Given the description of an element on the screen output the (x, y) to click on. 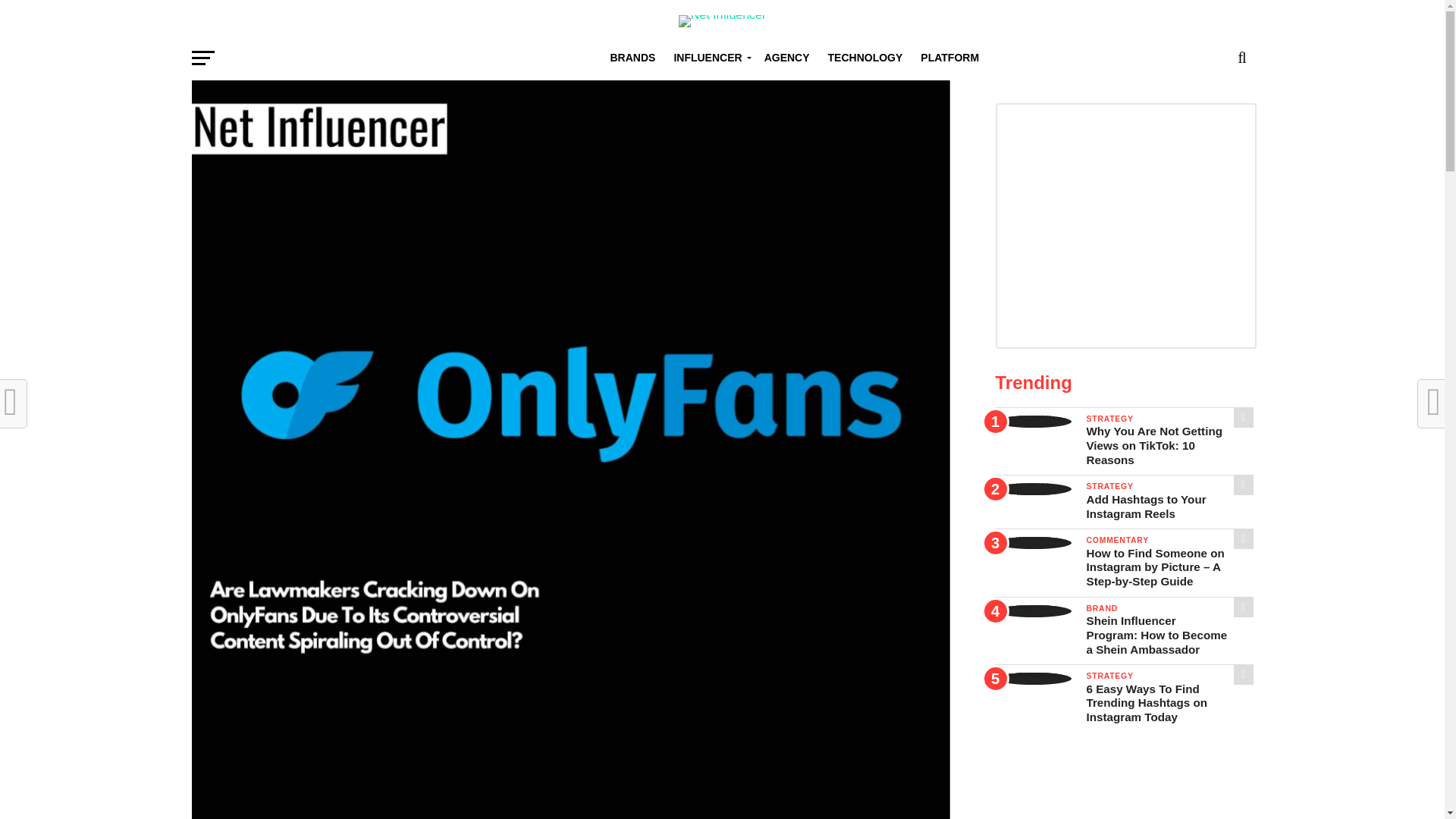
PLATFORM (949, 57)
TECHNOLOGY (865, 57)
INFLUENCER (708, 57)
BRANDS (631, 57)
AGENCY (786, 57)
